Given the description of an element on the screen output the (x, y) to click on. 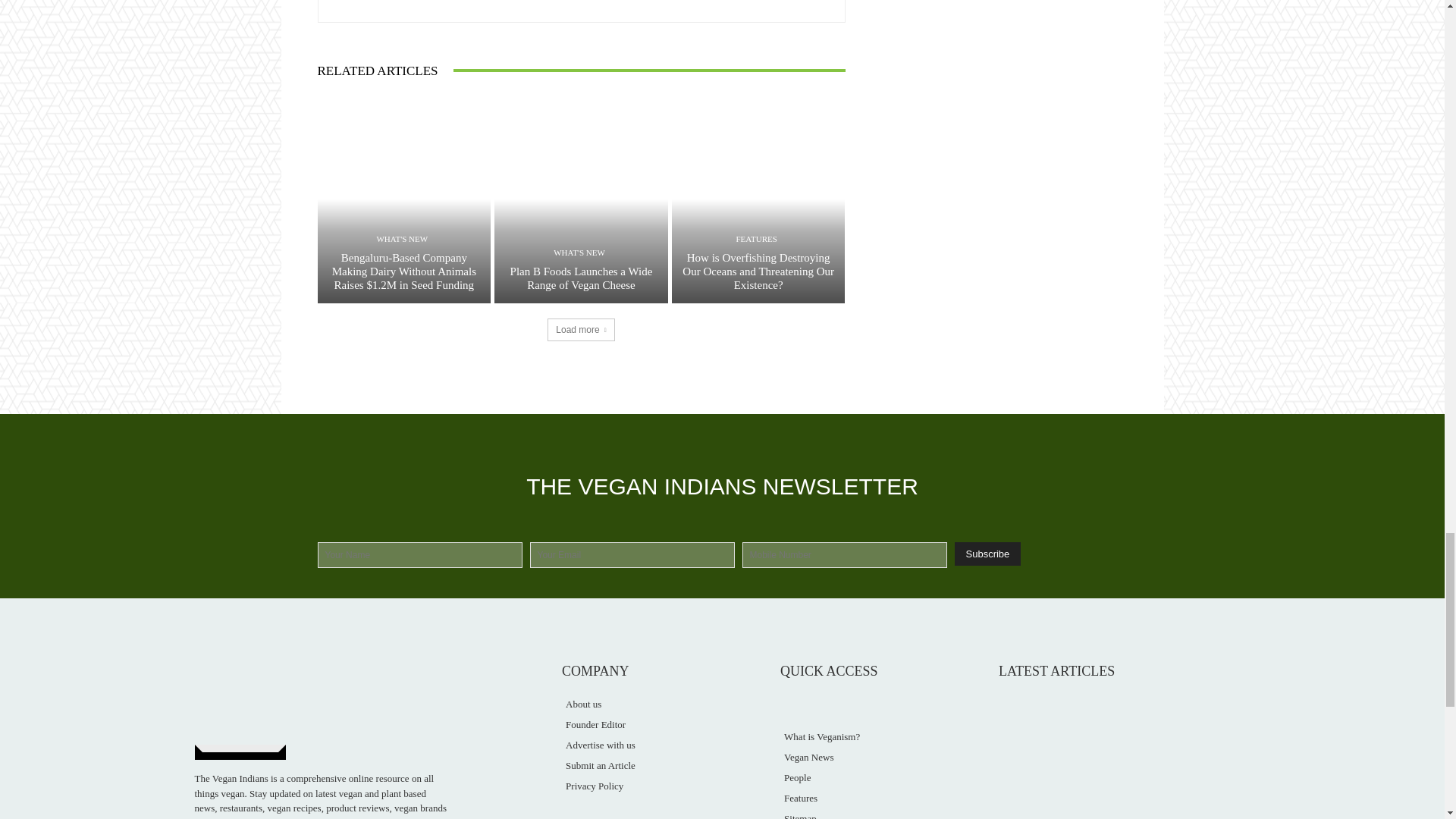
Subscribe (986, 553)
